Given the description of an element on the screen output the (x, y) to click on. 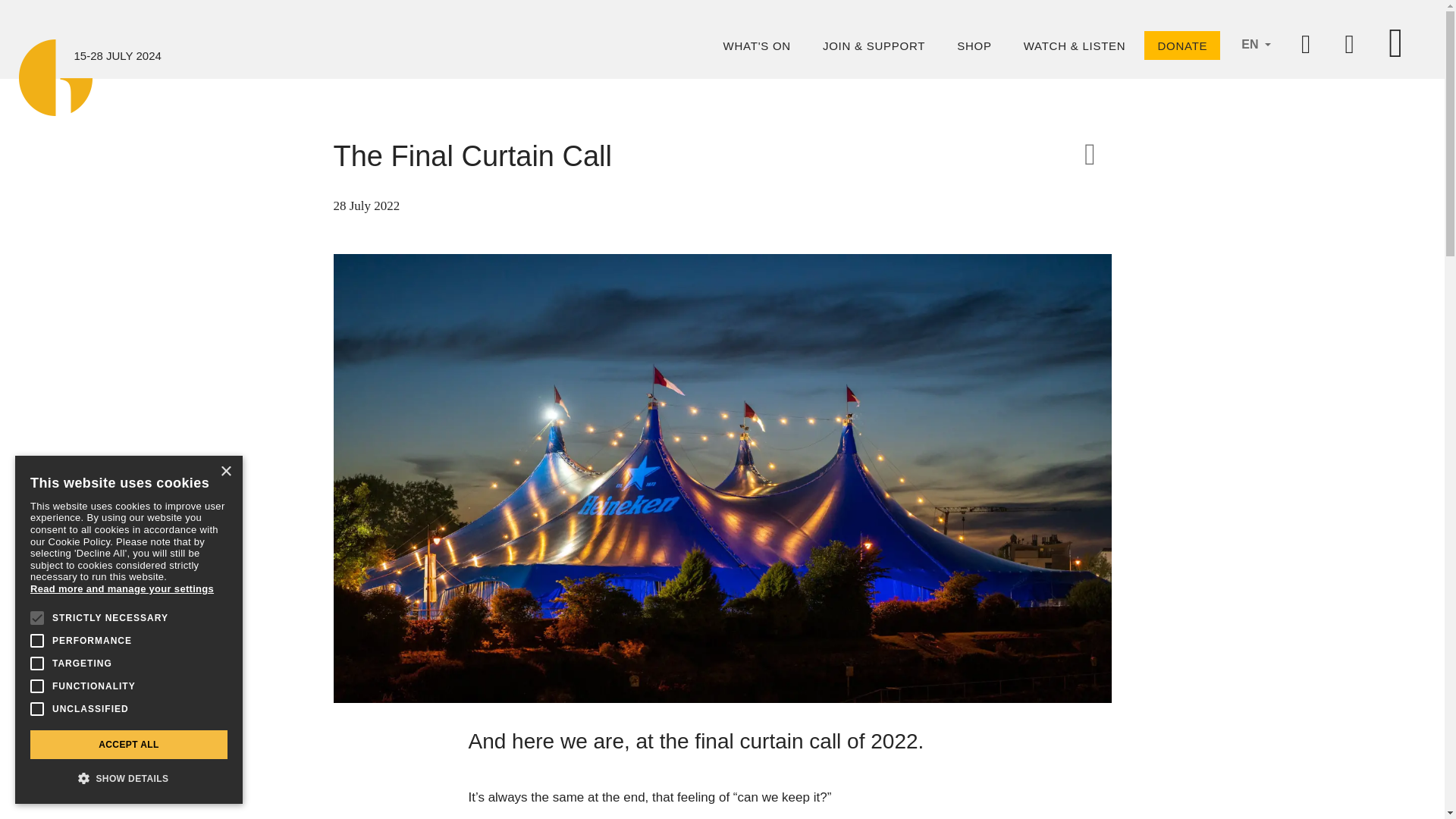
Search (1350, 48)
